Given the description of an element on the screen output the (x, y) to click on. 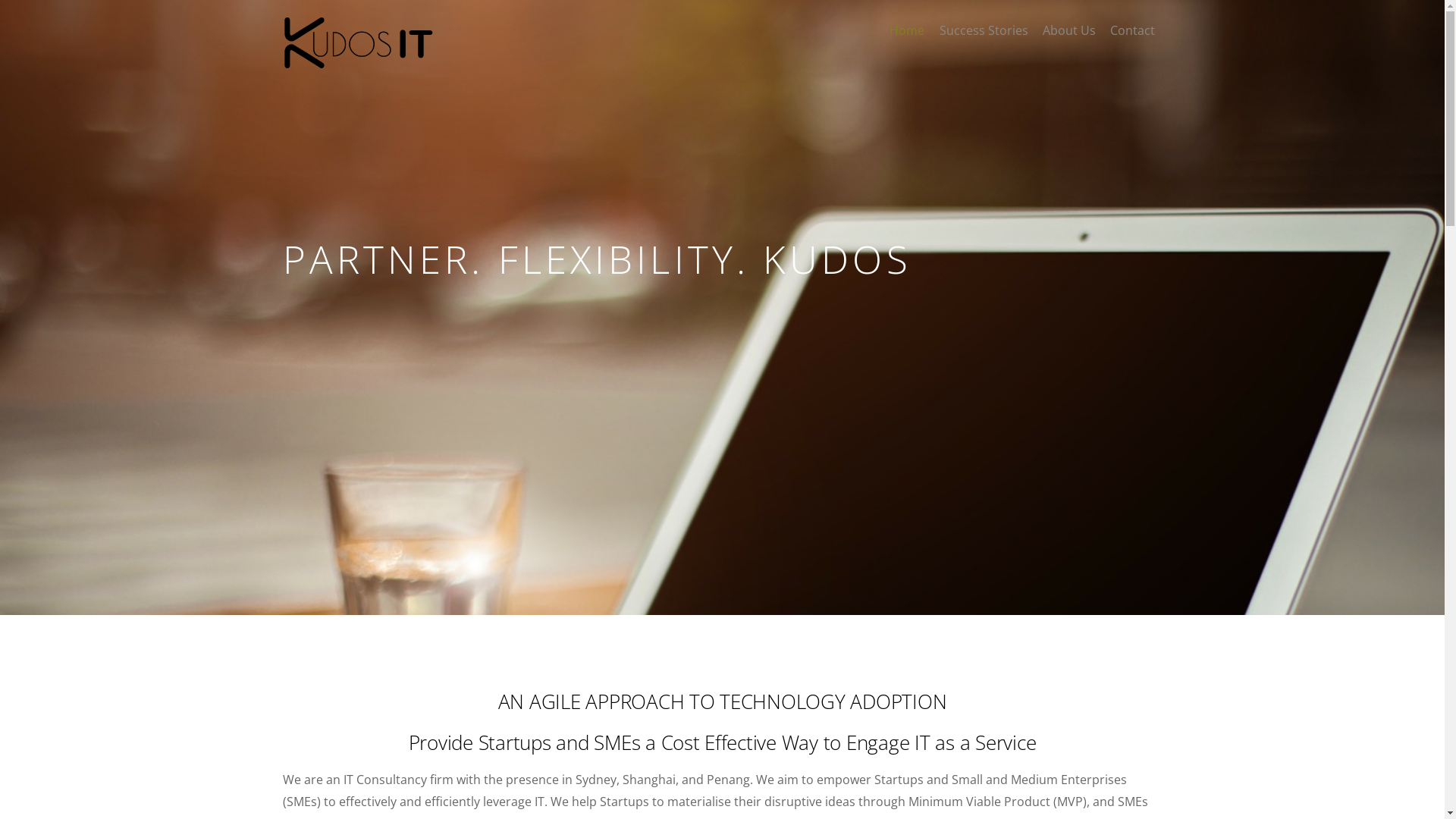
Success Stories Element type: text (983, 30)
Contact Element type: text (1131, 30)
About Us Element type: text (1068, 30)
Kudos IT Element type: hover (357, 42)
Home Element type: text (906, 30)
Kudos IT Element type: hover (357, 61)
